Given the description of an element on the screen output the (x, y) to click on. 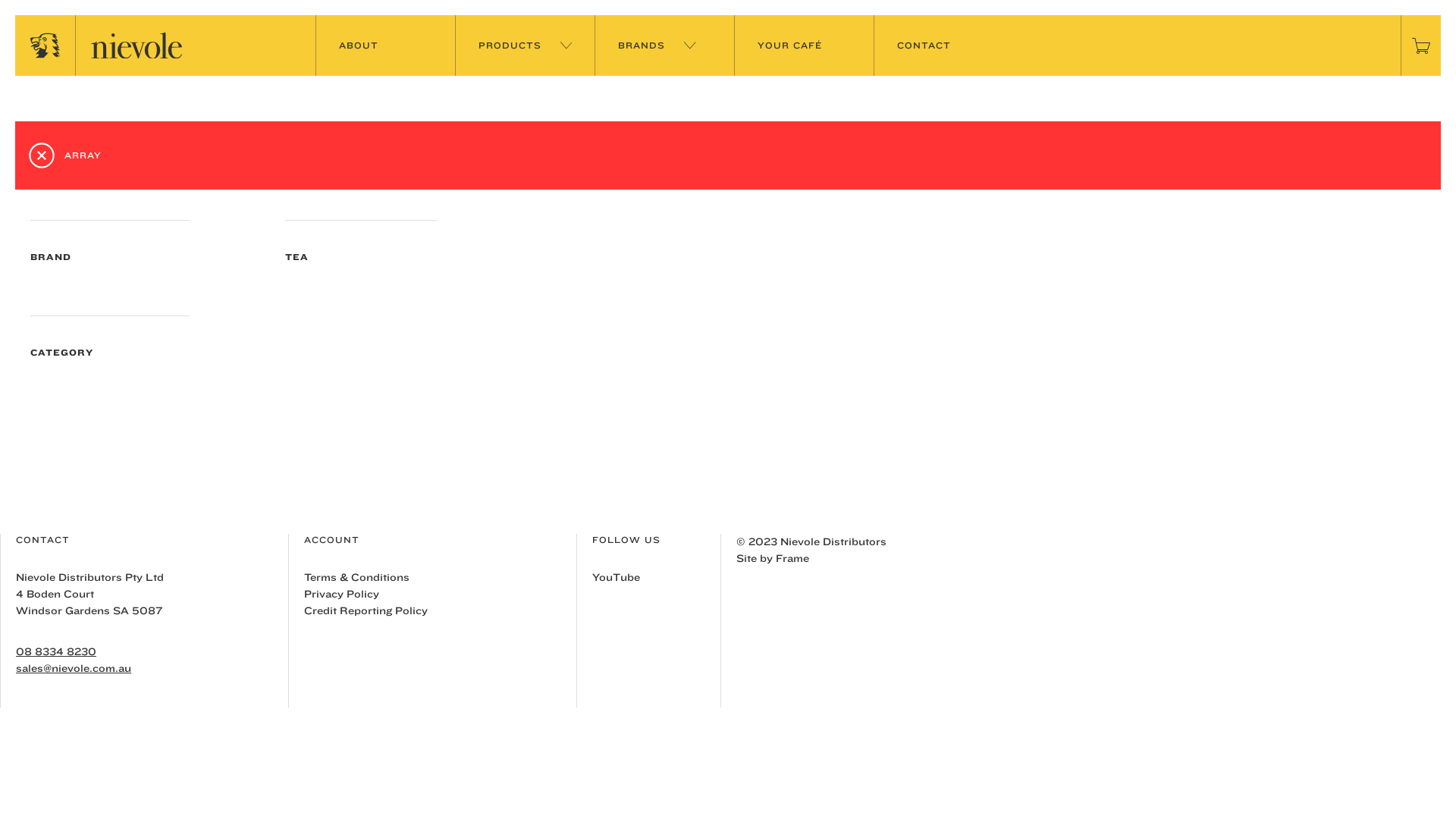
Credit Reporting Policy Element type: text (365, 610)
YouTube Element type: text (616, 577)
CONTACT Element type: text (943, 45)
08 8334 8230 Element type: text (151, 651)
Next Element type: text (727, 373)
Terms & Conditions Element type: text (356, 577)
ABOUT Element type: text (385, 45)
Privacy Policy Element type: text (341, 593)
sales@nievole.com.au Element type: text (151, 668)
PRODUCTS Element type: text (524, 45)
Frame Element type: text (792, 558)
BRANDS Element type: text (664, 45)
